Given the description of an element on the screen output the (x, y) to click on. 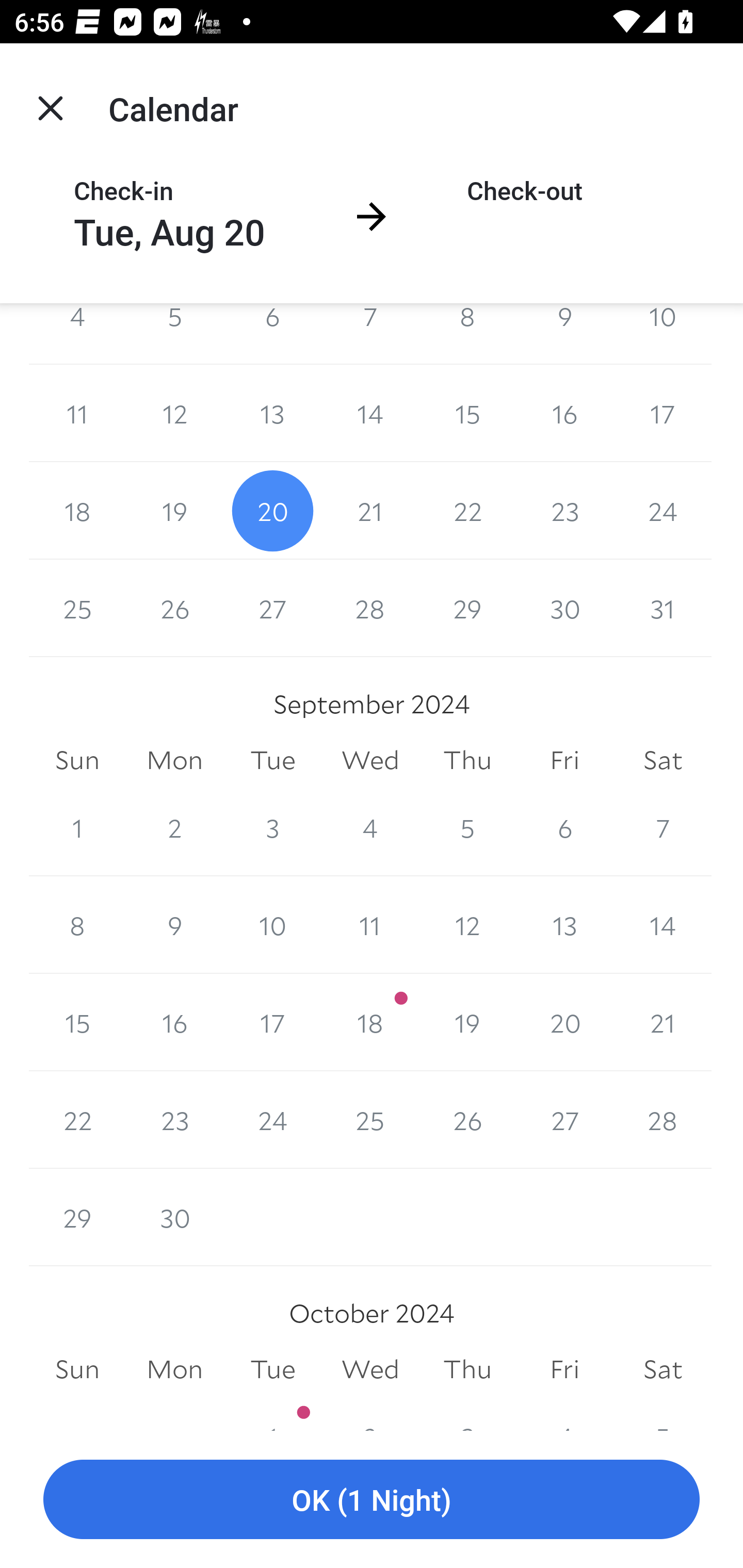
4 4 August 2024 (77, 333)
5 5 August 2024 (174, 333)
6 6 August 2024 (272, 333)
7 7 August 2024 (370, 333)
8 8 August 2024 (467, 333)
9 9 August 2024 (564, 333)
10 10 August 2024 (662, 333)
11 11 August 2024 (77, 413)
12 12 August 2024 (174, 413)
13 13 August 2024 (272, 413)
14 14 August 2024 (370, 413)
15 15 August 2024 (467, 413)
16 16 August 2024 (564, 413)
17 17 August 2024 (662, 413)
18 18 August 2024 (77, 510)
19 19 August 2024 (174, 510)
20 20 August 2024 (272, 510)
21 21 August 2024 (370, 510)
22 22 August 2024 (467, 510)
23 23 August 2024 (564, 510)
24 24 August 2024 (662, 510)
25 25 August 2024 (77, 607)
26 26 August 2024 (174, 607)
27 27 August 2024 (272, 607)
28 28 August 2024 (370, 607)
29 29 August 2024 (467, 607)
30 30 August 2024 (564, 607)
31 31 August 2024 (662, 607)
Sun (77, 760)
Mon (174, 760)
Tue (272, 760)
Wed (370, 760)
Thu (467, 760)
Fri (564, 760)
Sat (662, 760)
1 1 September 2024 (77, 827)
2 2 September 2024 (174, 827)
3 3 September 2024 (272, 827)
4 4 September 2024 (370, 827)
5 5 September 2024 (467, 827)
6 6 September 2024 (564, 827)
7 7 September 2024 (662, 827)
8 8 September 2024 (77, 924)
9 9 September 2024 (174, 924)
10 10 September 2024 (272, 924)
11 11 September 2024 (370, 924)
12 12 September 2024 (467, 924)
13 13 September 2024 (564, 924)
14 14 September 2024 (662, 924)
